Given the description of an element on the screen output the (x, y) to click on. 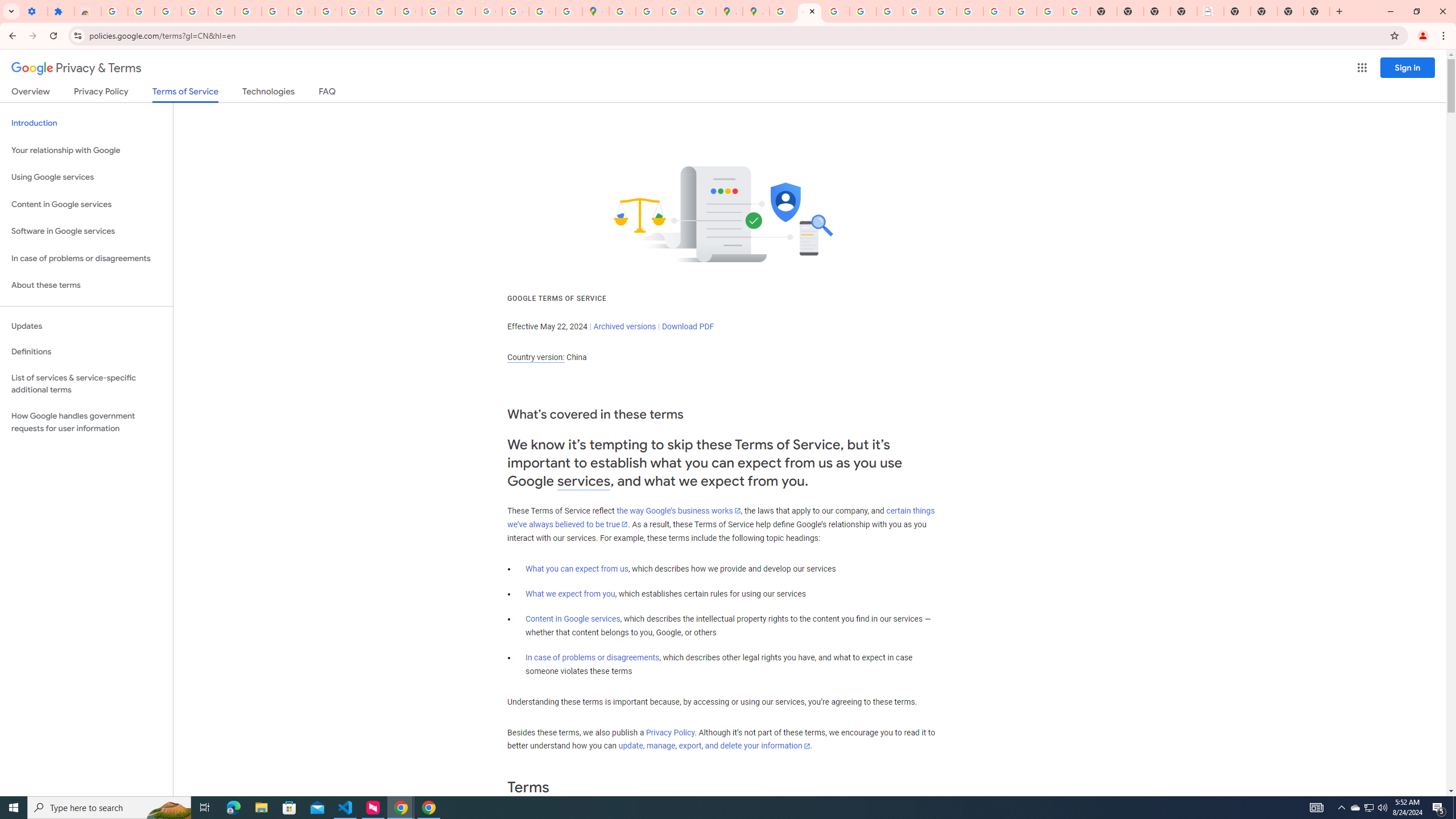
Delete photos & videos - Computer - Google Photos Help (167, 11)
Sign in - Google Accounts (248, 11)
Using Google services (86, 176)
https://scholar.google.com/ (382, 11)
Country version: (535, 357)
Settings - On startup (34, 11)
